Given the description of an element on the screen output the (x, y) to click on. 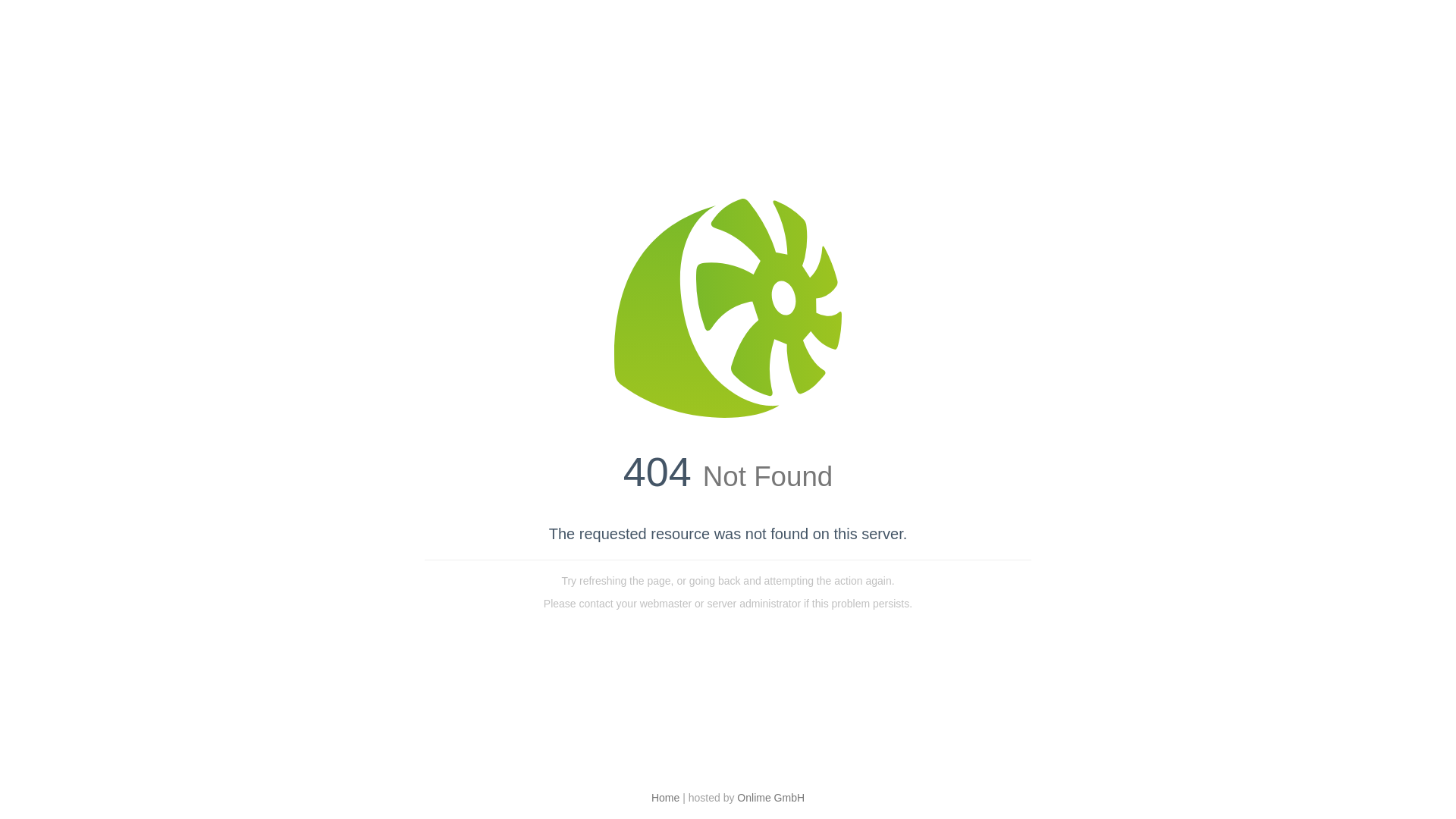
Onlime GmbH Element type: text (770, 797)
Home Element type: text (665, 797)
